Given the description of an element on the screen output the (x, y) to click on. 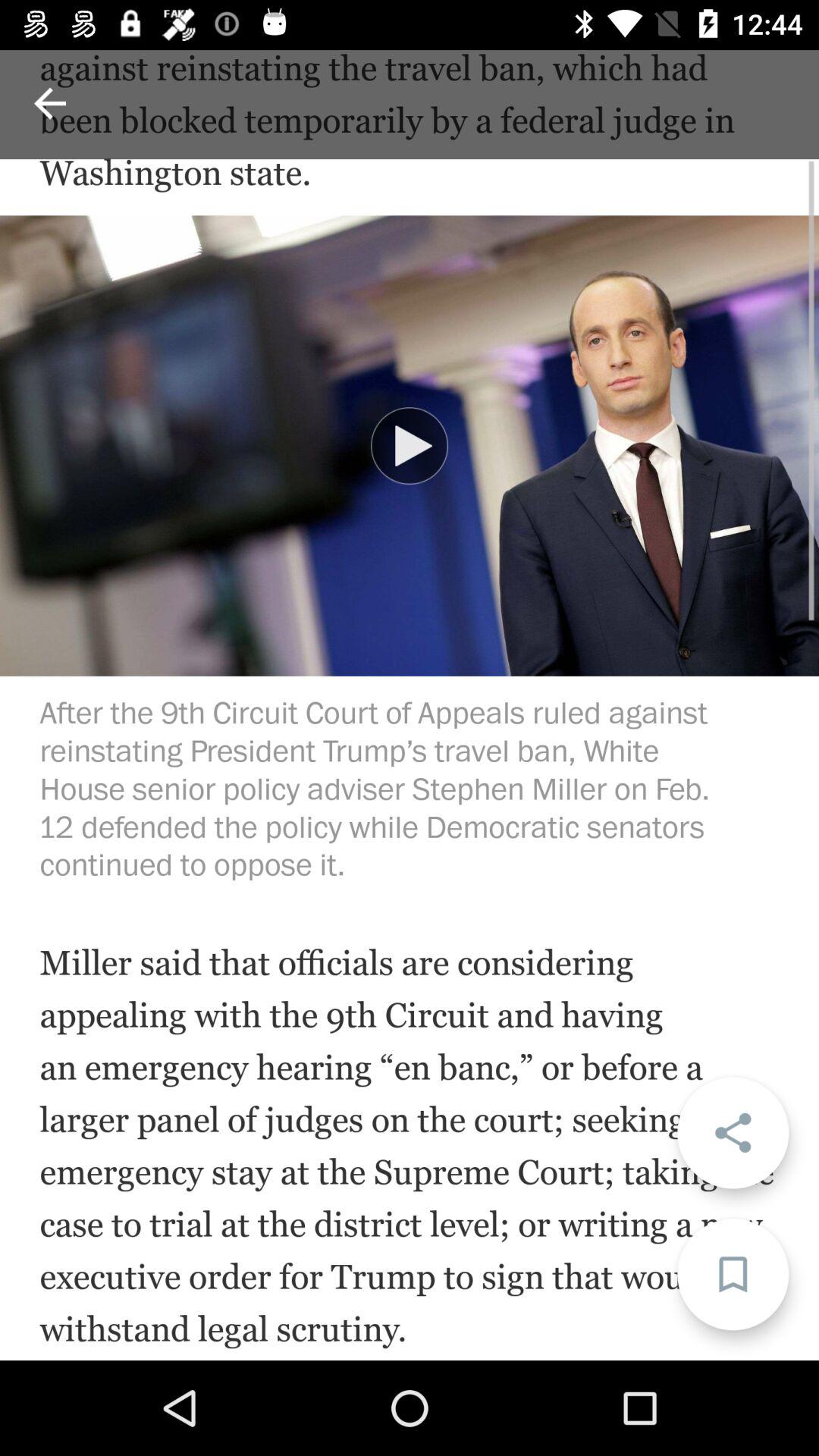
play video (409, 445)
